Given the description of an element on the screen output the (x, y) to click on. 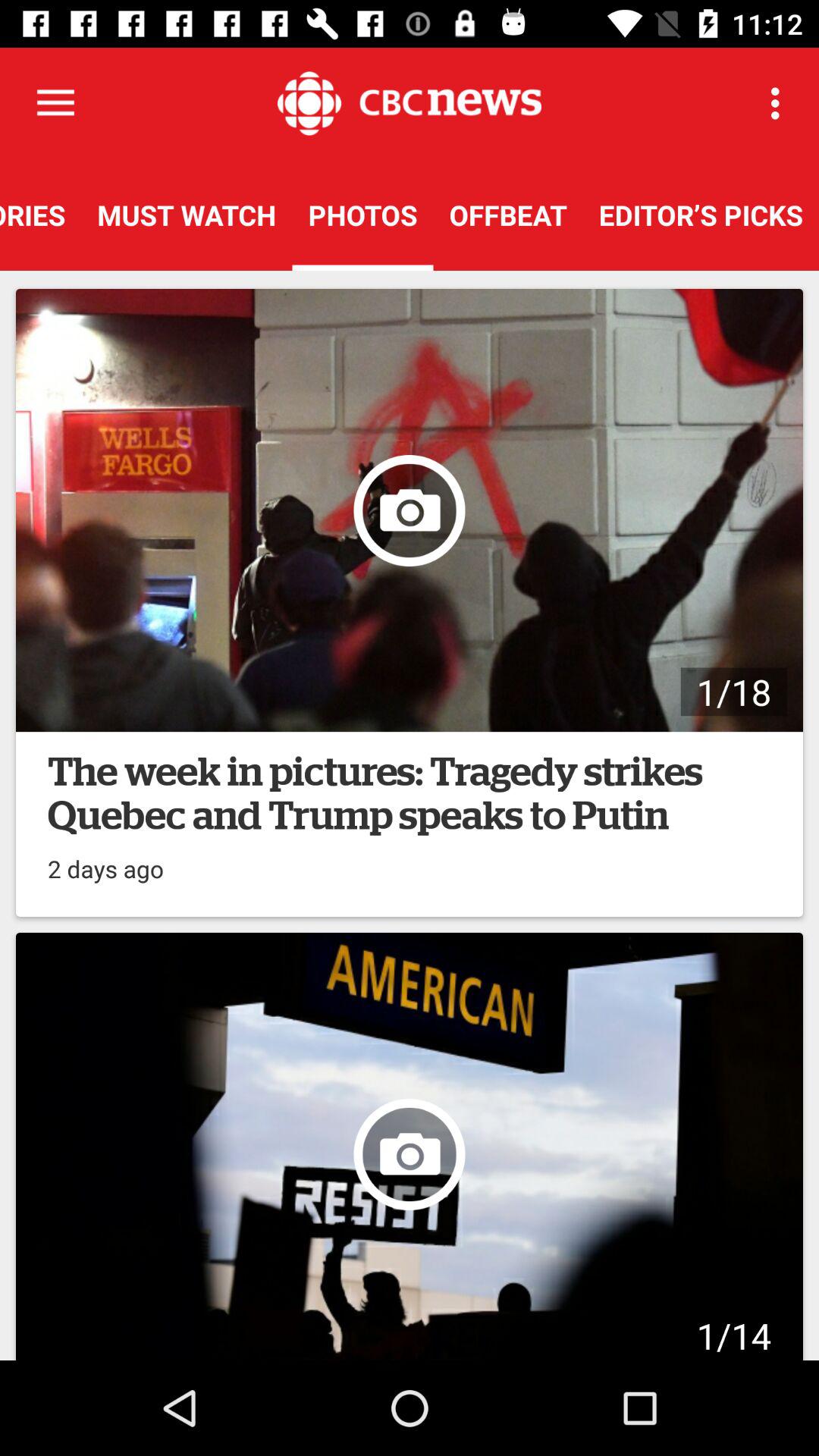
select the must watch (186, 214)
